Given the description of an element on the screen output the (x, y) to click on. 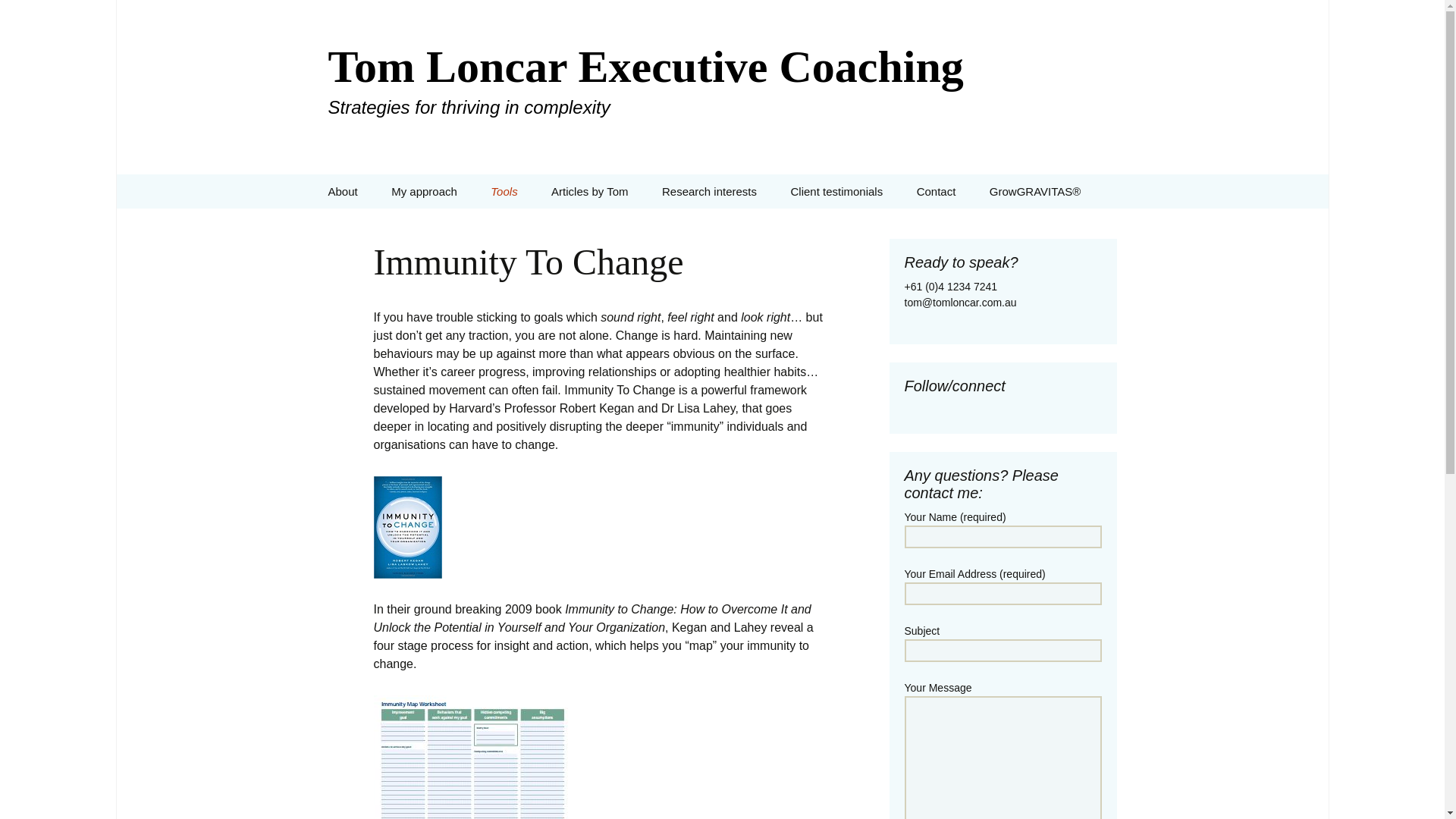
Contact (936, 191)
Search (34, 15)
Client testimonials (836, 191)
About (342, 191)
Research interests (708, 191)
Search (18, 15)
Tools (504, 191)
Articles by Tom (589, 191)
My approach (423, 191)
